Given the description of an element on the screen output the (x, y) to click on. 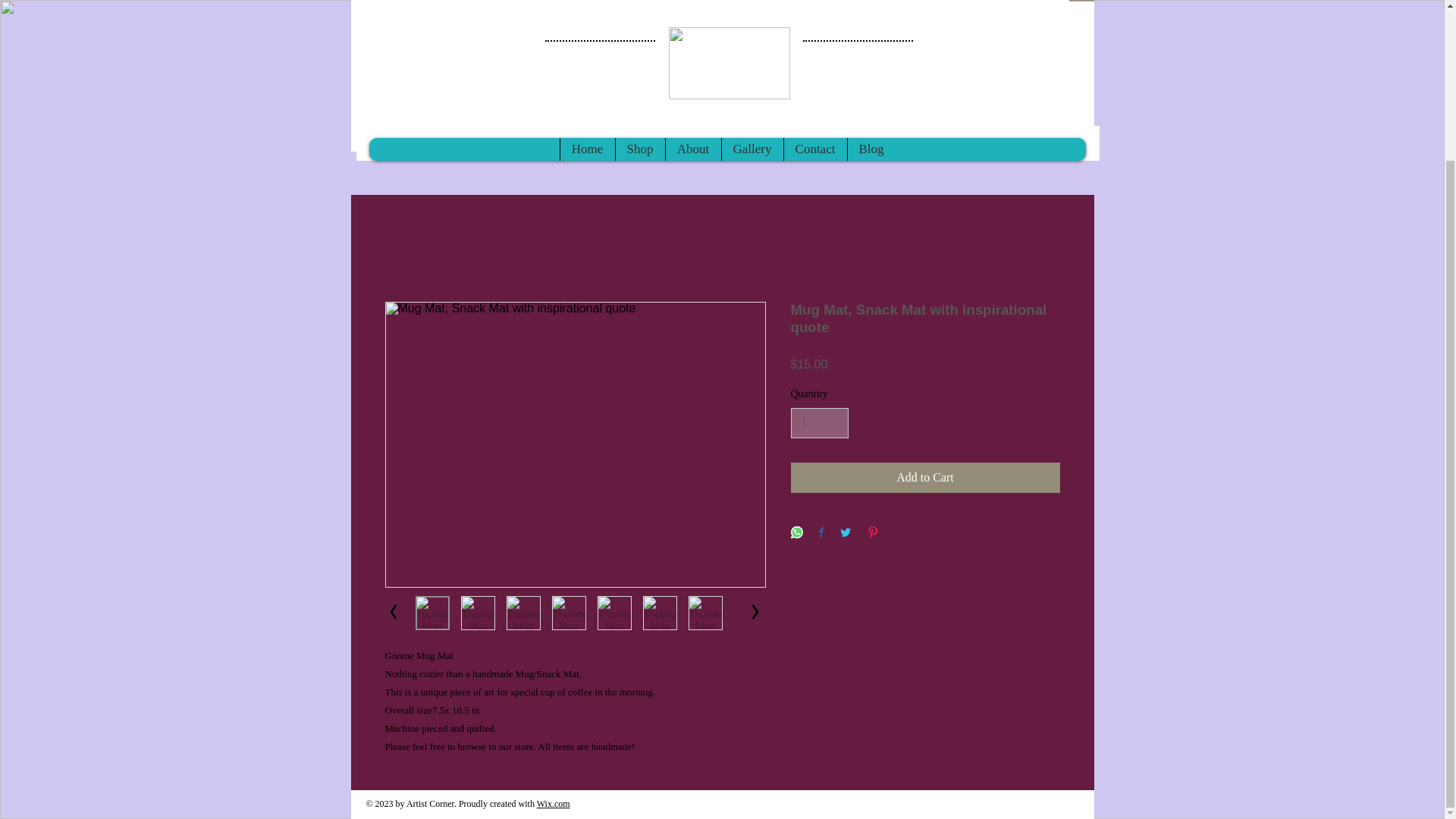
Contact (814, 149)
Gallery (751, 149)
1 (818, 422)
Wix.com (553, 803)
Add to Cart (924, 477)
Home (586, 149)
Blog (870, 149)
About (691, 149)
Shop (638, 149)
